Given the description of an element on the screen output the (x, y) to click on. 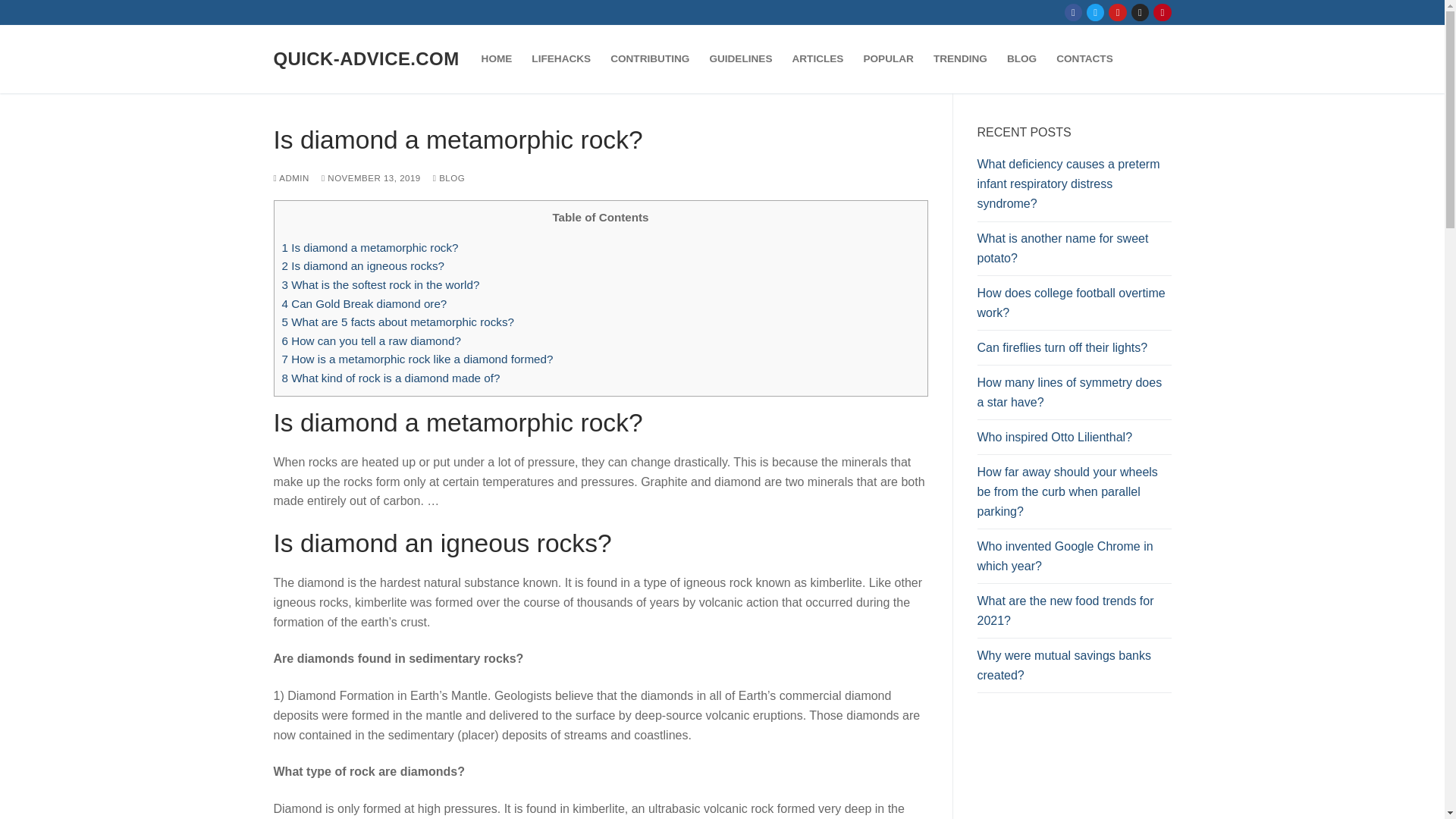
Instagram (1139, 12)
BLOG (1021, 59)
ADMIN (290, 177)
BLOG (448, 177)
HOME (496, 59)
Facebook (1073, 12)
NOVEMBER 13, 2019 (370, 177)
CONTACTS (1084, 59)
LIFEHACKS (560, 59)
GUIDELINES (739, 59)
